Given the description of an element on the screen output the (x, y) to click on. 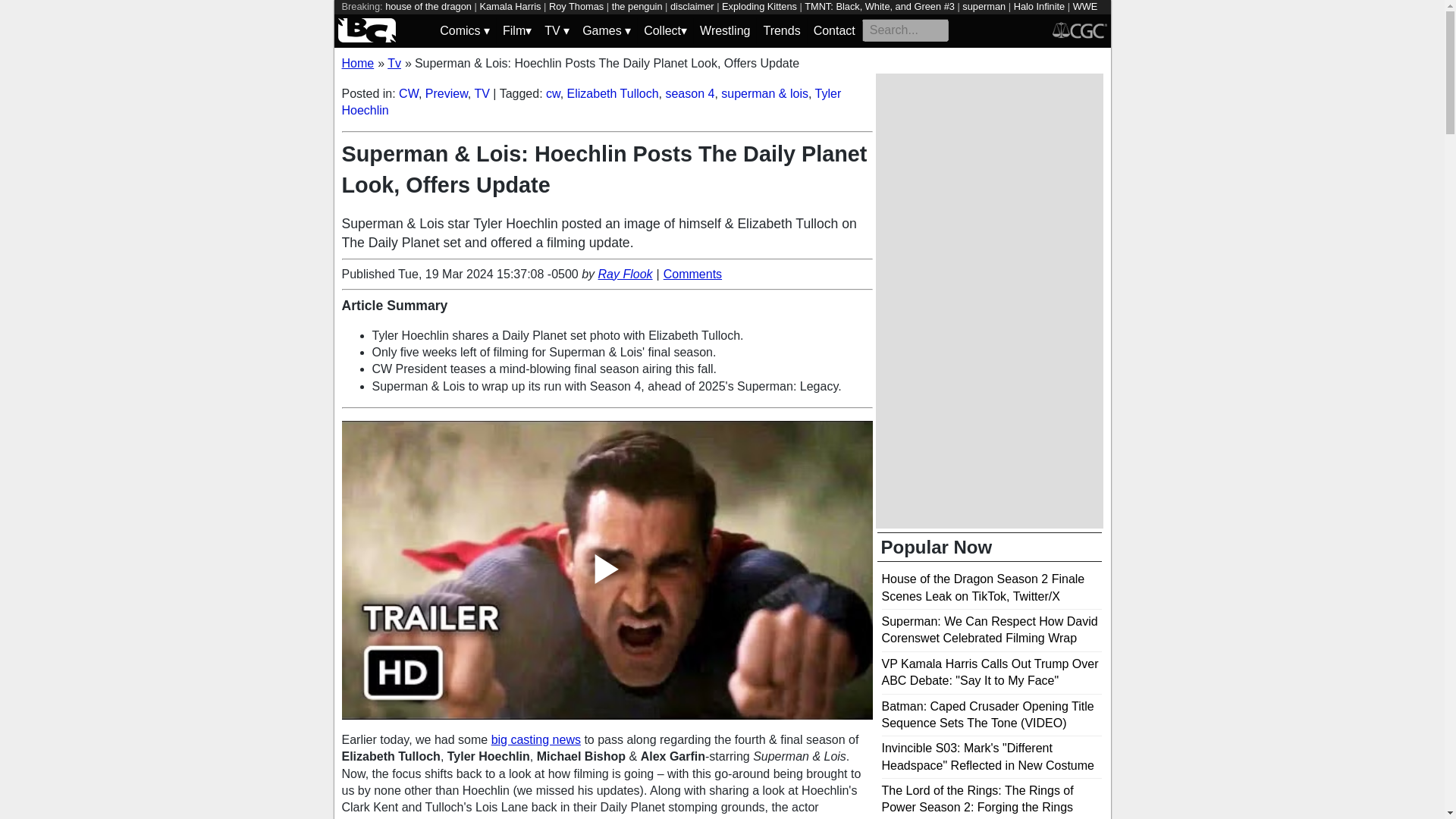
Diablo IV (521, 19)
Roy Thomas (576, 6)
Tue, 19 Mar 2024 15:37:08 -0500 (487, 273)
superman (984, 6)
the penguin (636, 6)
Toggle Dropdown (606, 30)
disclaimer (691, 6)
Exploding Kittens (759, 6)
Toggle Dropdown (464, 30)
Toggle Dropdown (516, 30)
tower of god (575, 19)
lord of the rings (459, 19)
house of the dragon (428, 6)
Toggle Dropdown (665, 30)
Spider-Man (394, 19)
